Given the description of an element on the screen output the (x, y) to click on. 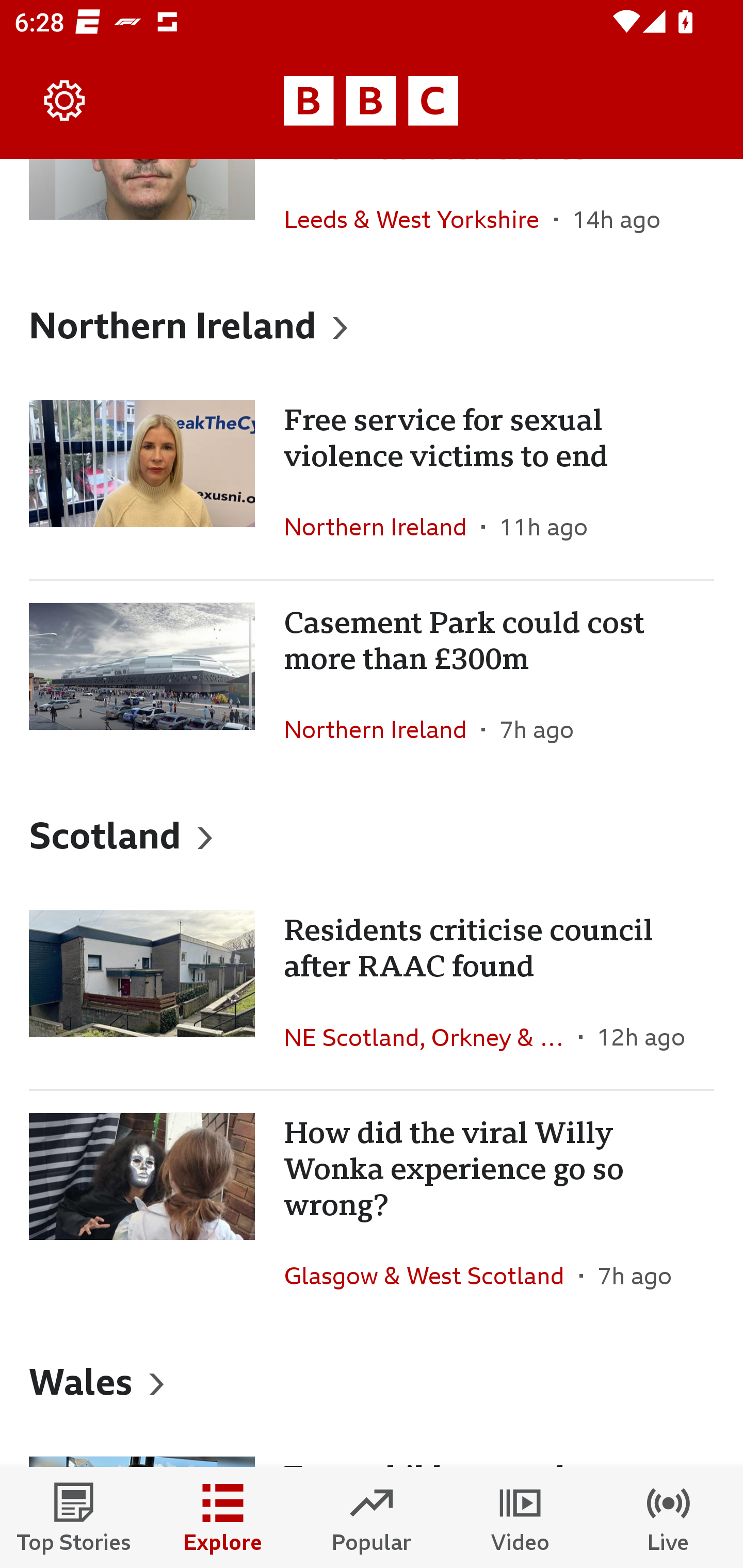
Settings (64, 100)
Northern Ireland, Heading Northern Ireland    (371, 324)
Northern Ireland In the section Northern Ireland (382, 526)
Northern Ireland In the section Northern Ireland (382, 728)
Scotland, Heading Scotland    (371, 833)
Wales, Heading Wales    (371, 1381)
Top Stories (74, 1517)
Popular (371, 1517)
Video (519, 1517)
Live (668, 1517)
